Given the description of an element on the screen output the (x, y) to click on. 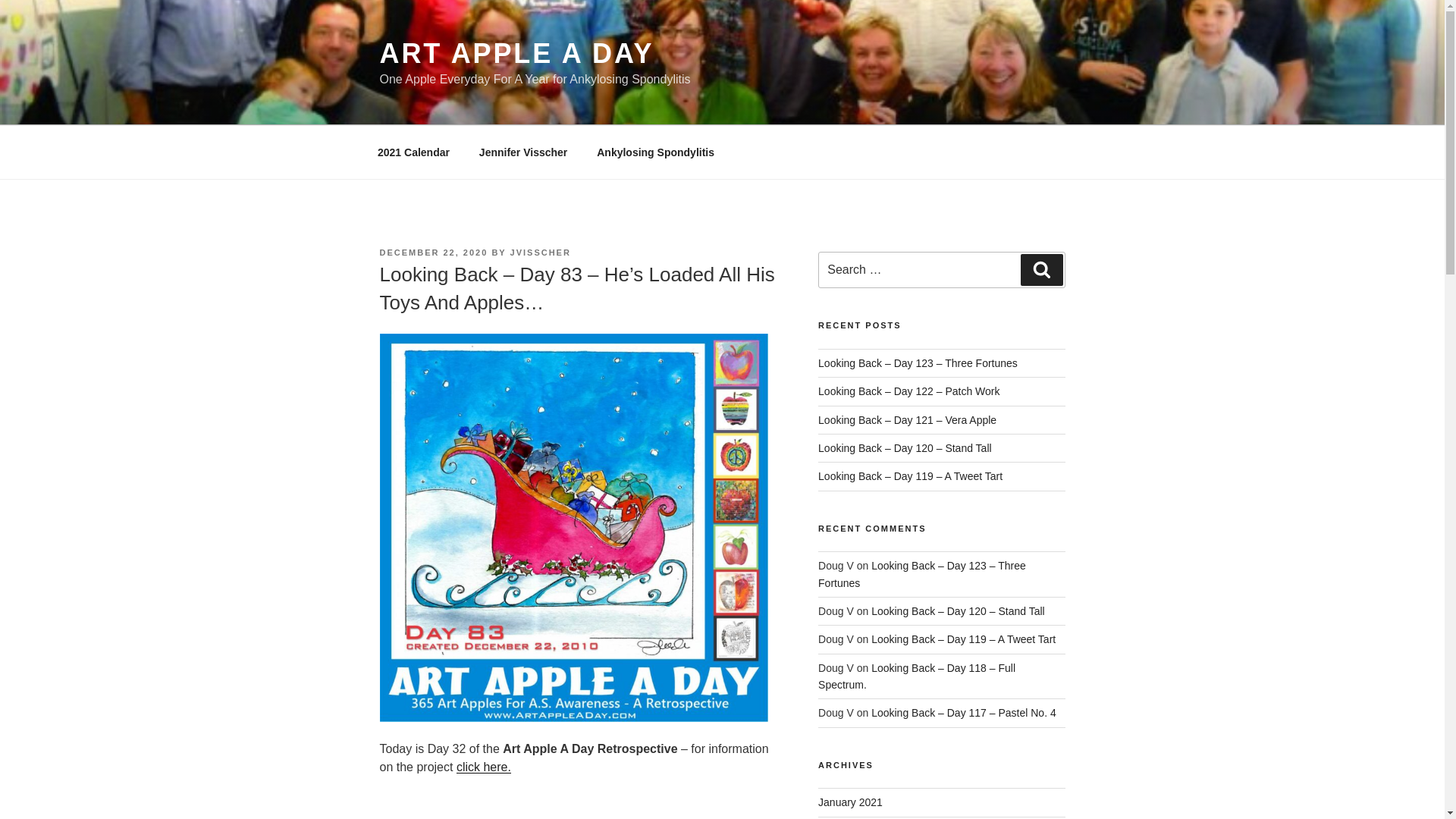
JVISSCHER (540, 252)
2021 Calendar (413, 151)
ART APPLE A DAY (515, 52)
January 2021 (850, 802)
Search (1041, 269)
Jennifer Visscher (522, 151)
DECEMBER 22, 2020 (432, 252)
click here. (484, 766)
Ankylosing Spondylitis (655, 151)
